Given the description of an element on the screen output the (x, y) to click on. 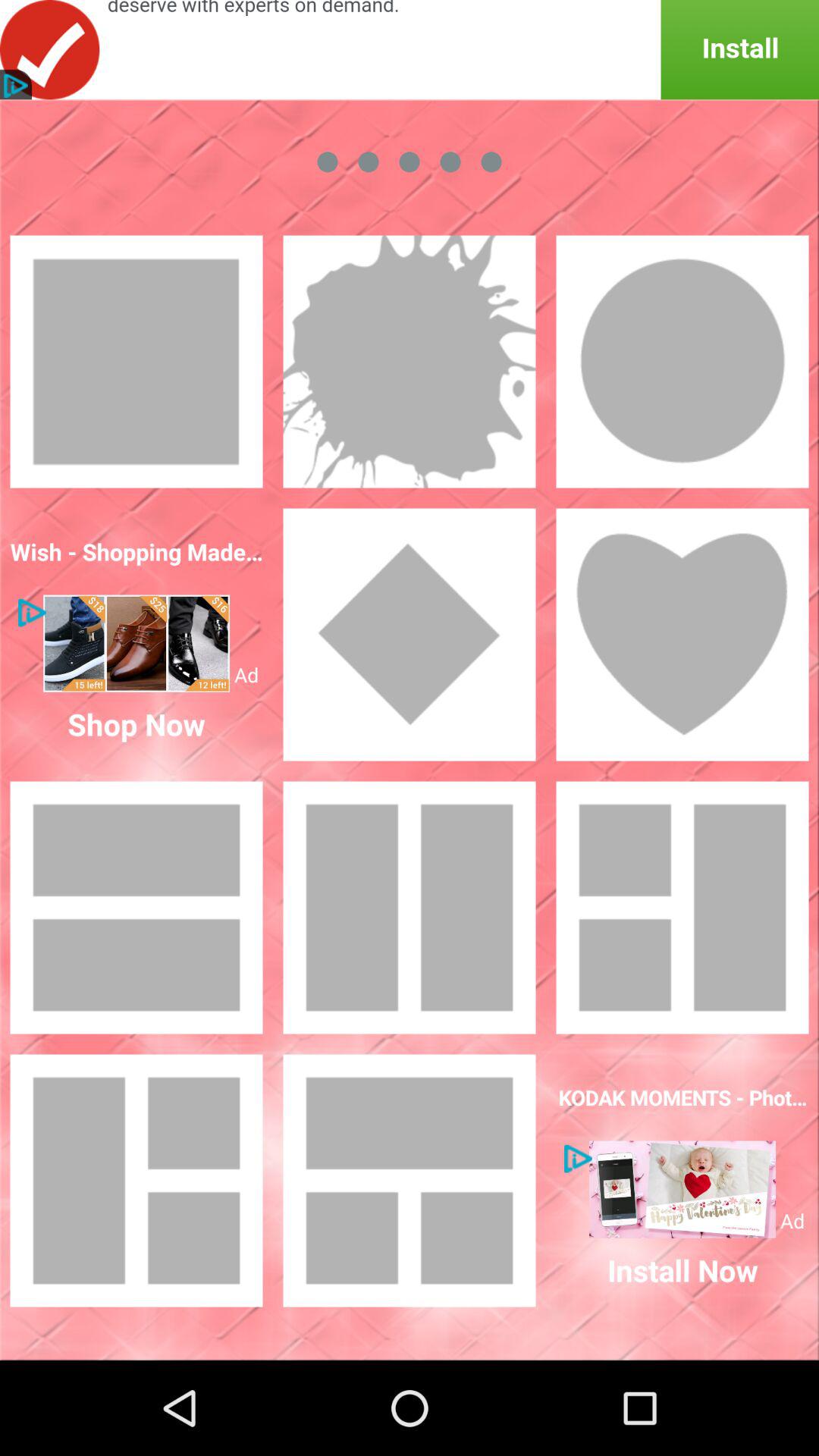
go to website (136, 643)
